Given the description of an element on the screen output the (x, y) to click on. 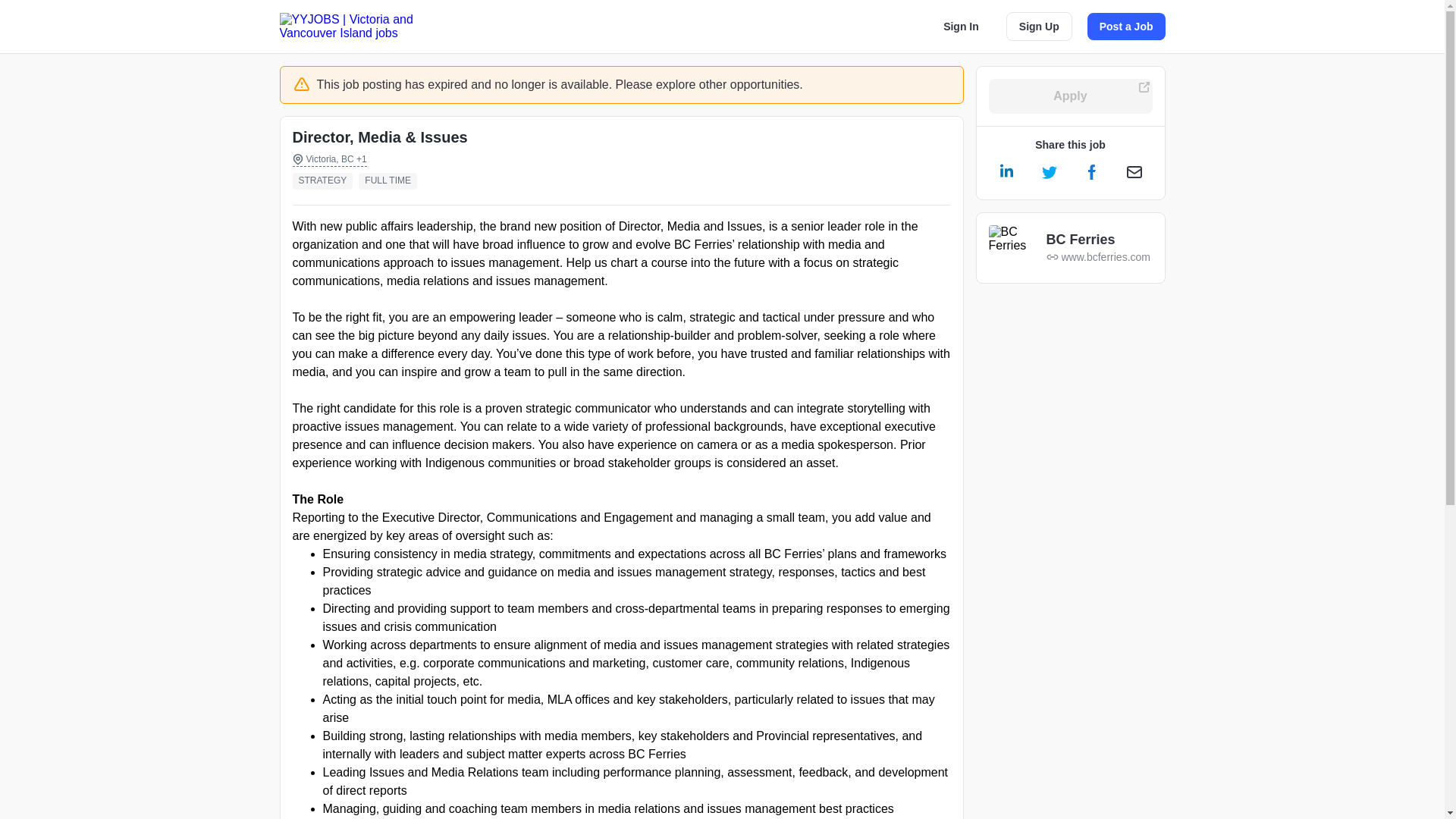
FULL TIME (390, 180)
Sign In (961, 26)
STRATEGY (325, 180)
Sign Up (1038, 26)
Apply (1070, 95)
Post a Job (1126, 26)
BC Ferries (1098, 239)
www.bcferries.com (1098, 256)
